Given the description of an element on the screen output the (x, y) to click on. 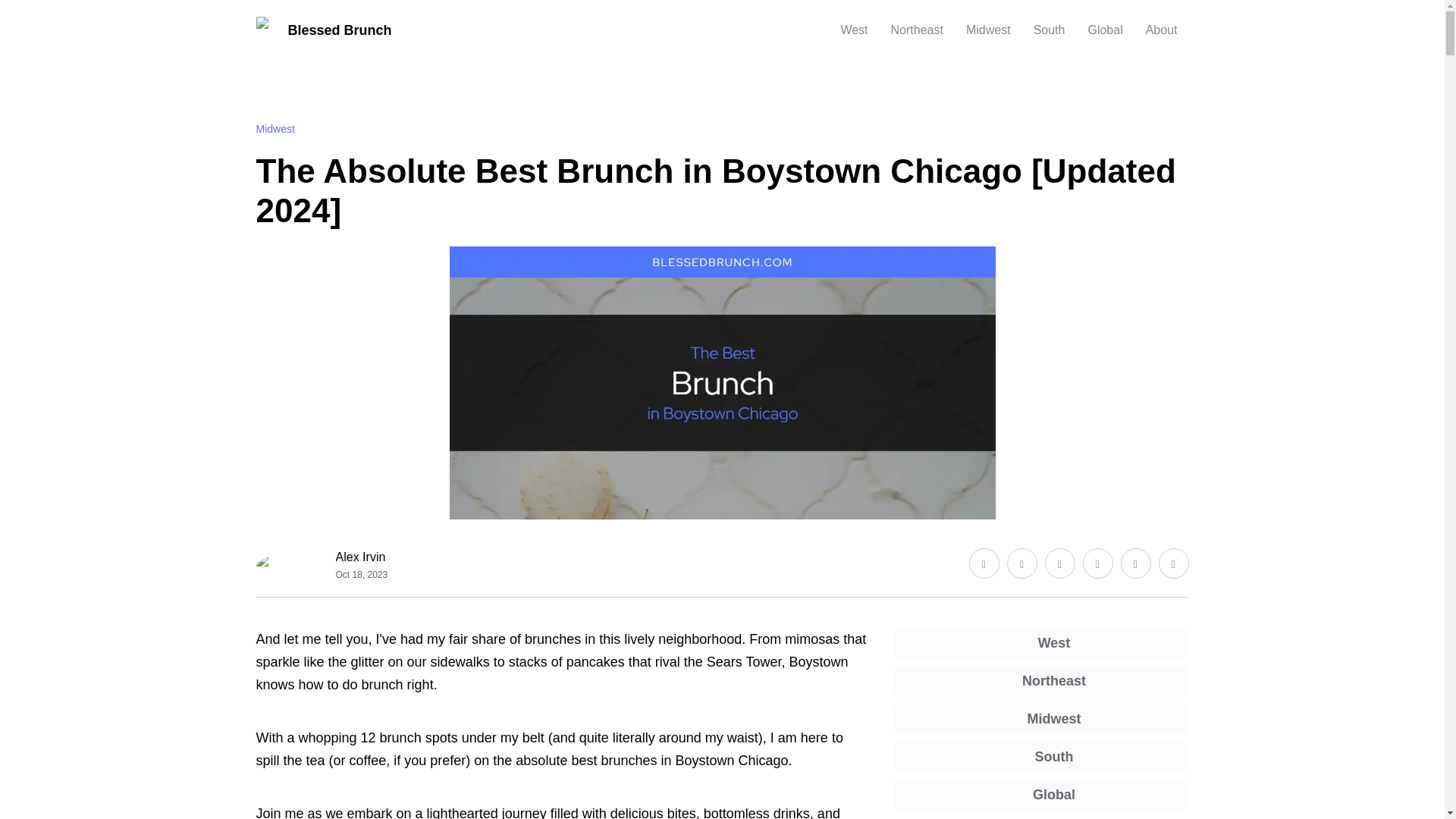
Midwest (275, 128)
Blessed Brunch (323, 30)
Alex Irvin (362, 557)
